Given the description of an element on the screen output the (x, y) to click on. 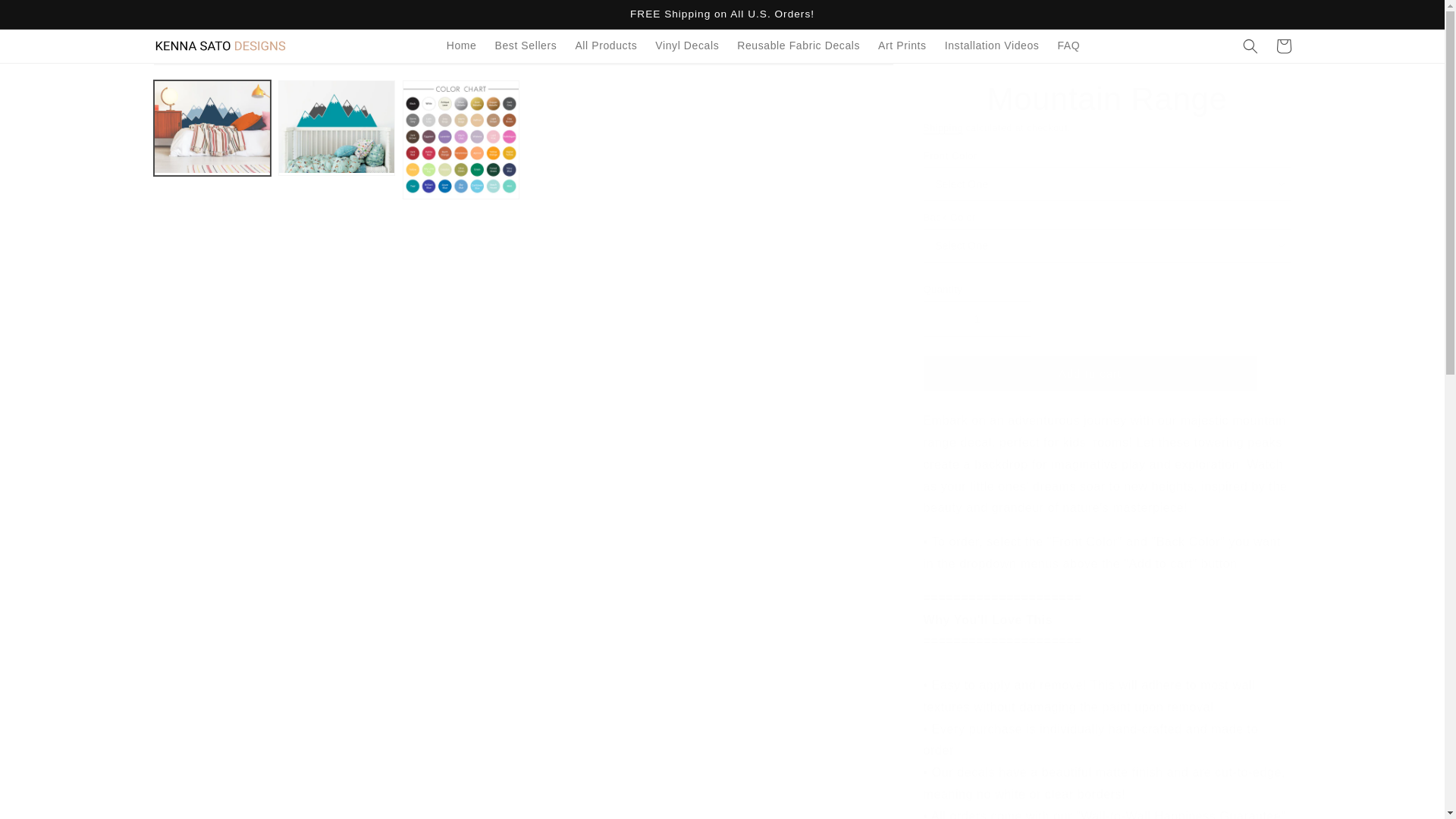
Reusable Fabric Decals (798, 45)
Skip to content (45, 17)
Art Prints (902, 45)
All Products (606, 45)
Cart (1283, 46)
FAQ (1068, 45)
Installation Videos (992, 45)
Skip to product information (199, 80)
Best Sellers (525, 45)
1 (976, 318)
Vinyl Decals (687, 45)
Home (462, 45)
